Given the description of an element on the screen output the (x, y) to click on. 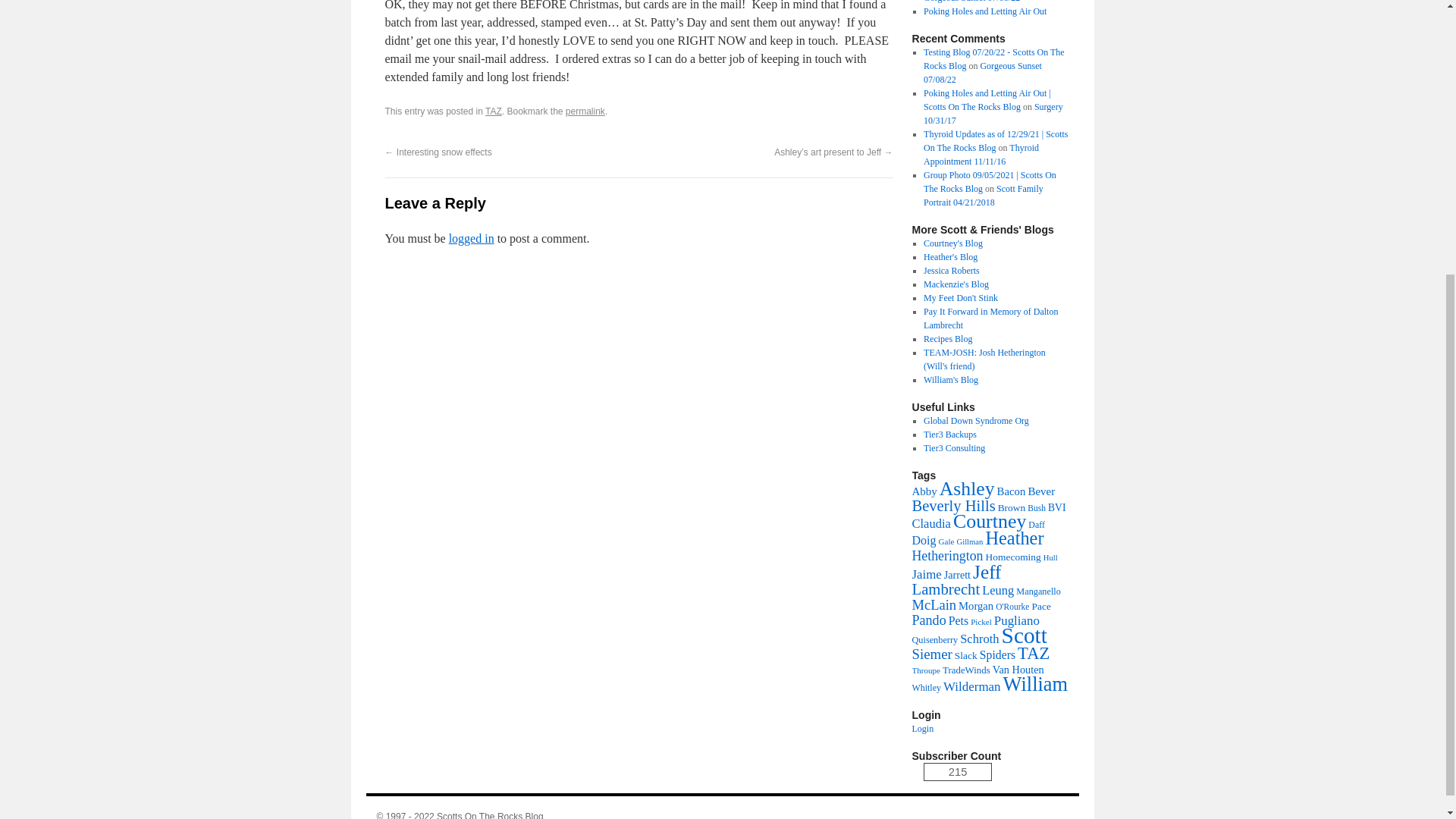
permalink (585, 111)
Pay It Forward in Memory of Dalton Lambrecht (990, 318)
Login (922, 728)
TAZ (493, 111)
Permalink to Cards are in the mail! (585, 111)
Tier3 Consulting (954, 448)
